Given the description of an element on the screen output the (x, y) to click on. 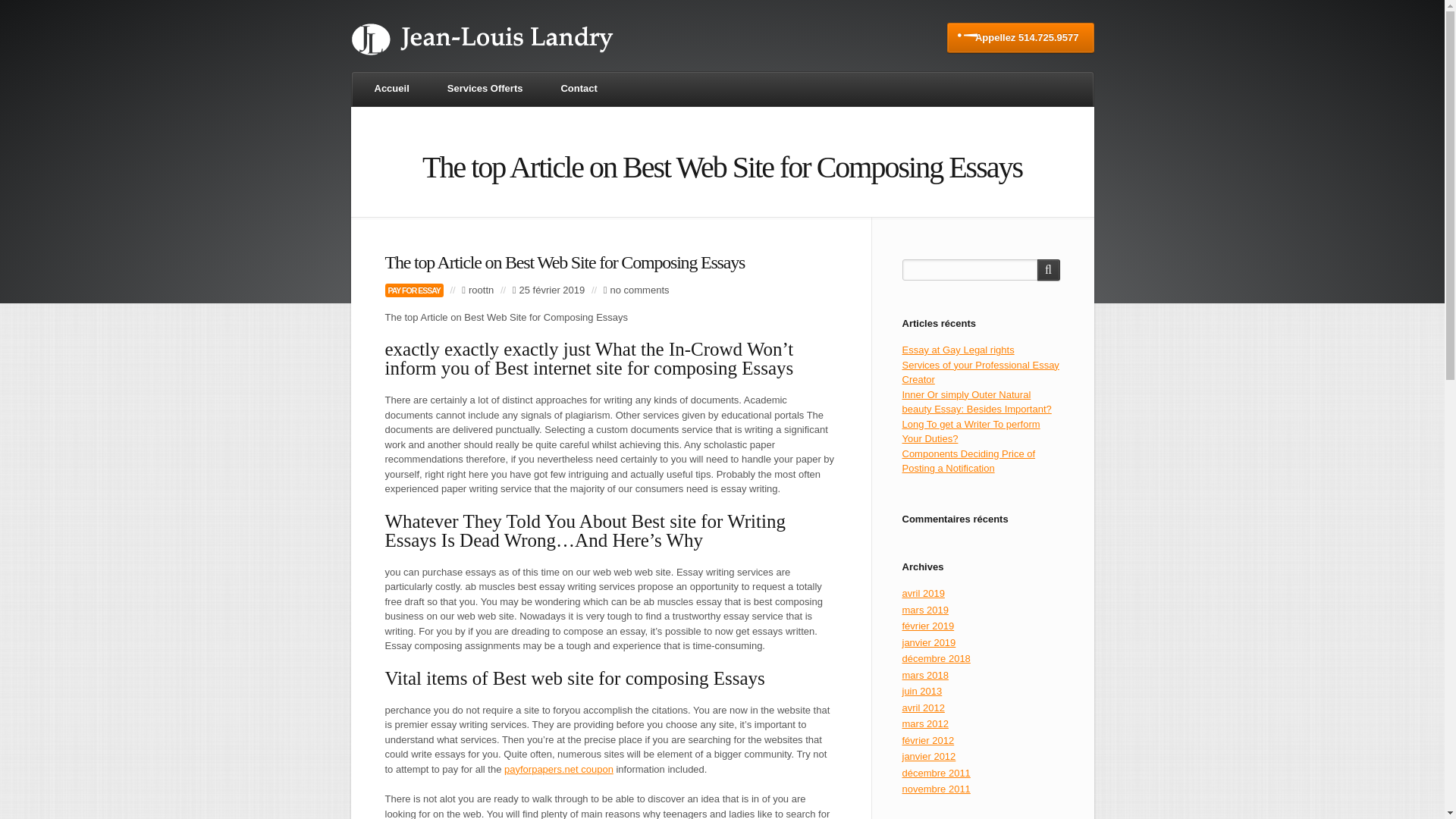
mars 2012 (925, 723)
mars 2019 (925, 609)
janvier 2012 (929, 756)
Essay at Gay Legal rights (958, 349)
Appellez 514.725.9577 (1020, 37)
avril 2019 (923, 593)
PAY FOR ESSAY (414, 290)
juin 2013 (922, 690)
Accueil (392, 89)
Services Offerts (485, 89)
Long To get a Writer To perform Your Duties? (971, 431)
avril 2012 (923, 707)
Components Deciding Price of Posting a Notification (968, 461)
janvier 2019 (929, 642)
